Given the description of an element on the screen output the (x, y) to click on. 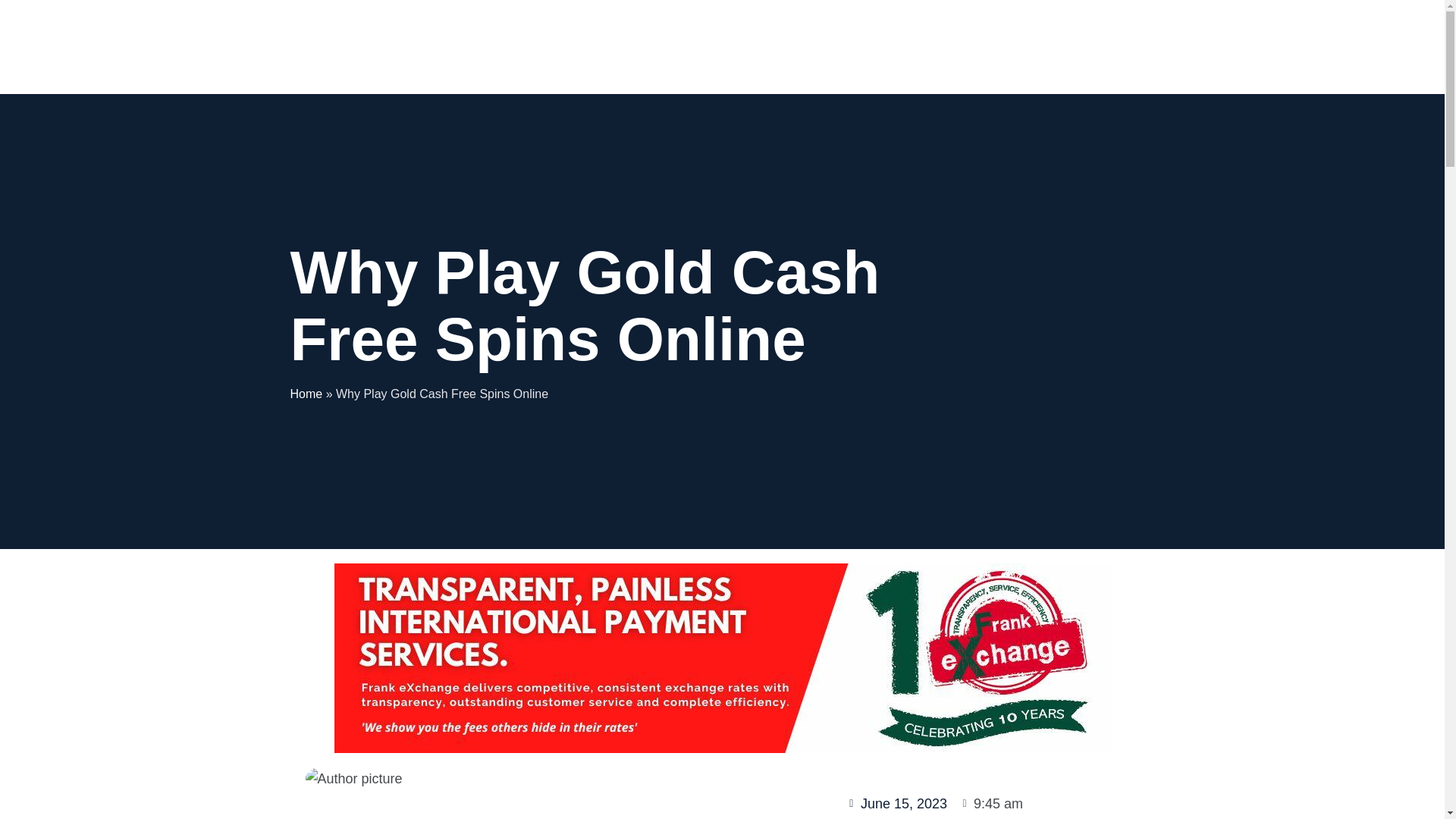
Home (305, 393)
June 15, 2023 (896, 803)
